Given the description of an element on the screen output the (x, y) to click on. 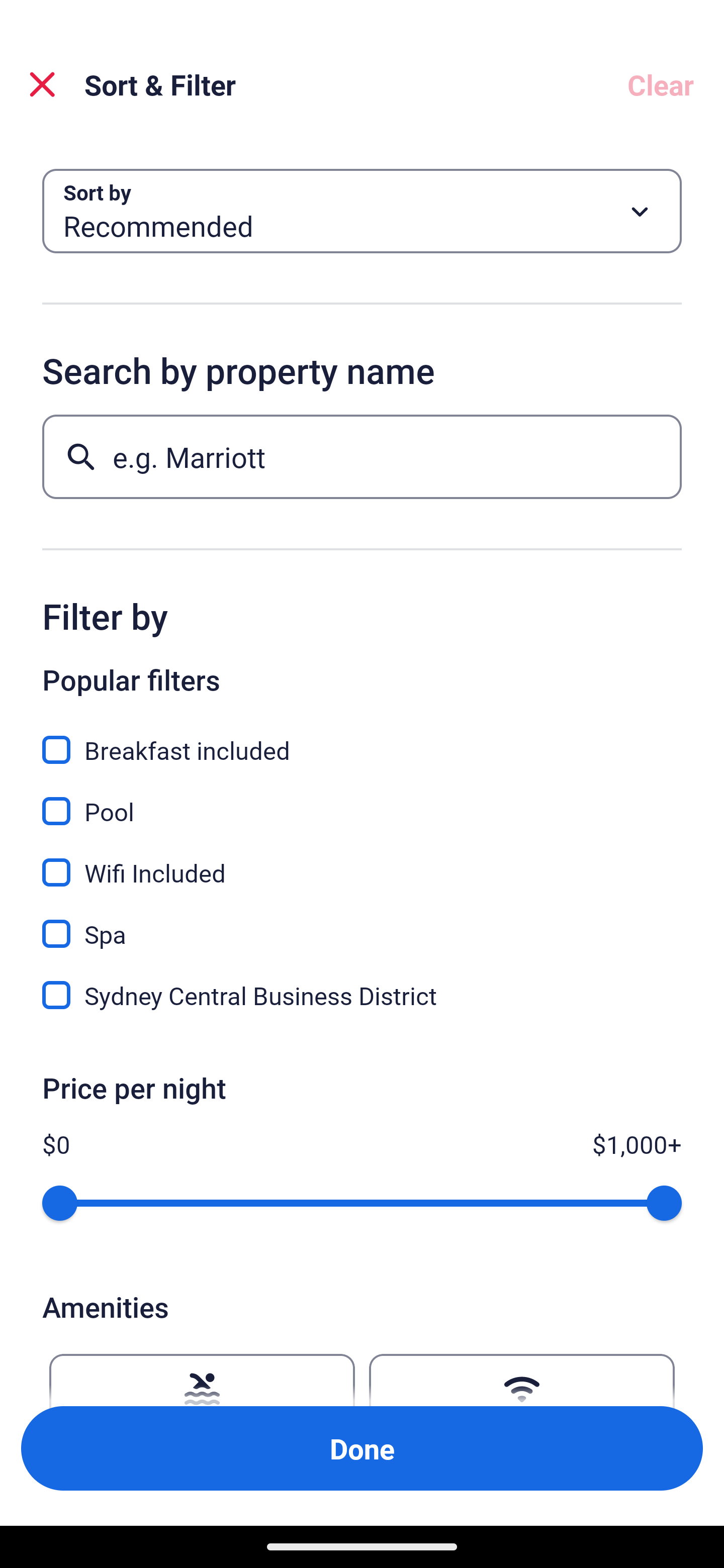
Close Sort and Filter (42, 84)
Clear (660, 84)
Sort by Button Recommended (361, 211)
e.g. Marriott Button (361, 455)
Breakfast included, Breakfast included (361, 738)
Pool, Pool (361, 800)
Wifi Included, Wifi Included (361, 861)
Spa, Spa (361, 922)
Apply and close Sort and Filter Done (361, 1448)
